Given the description of an element on the screen output the (x, y) to click on. 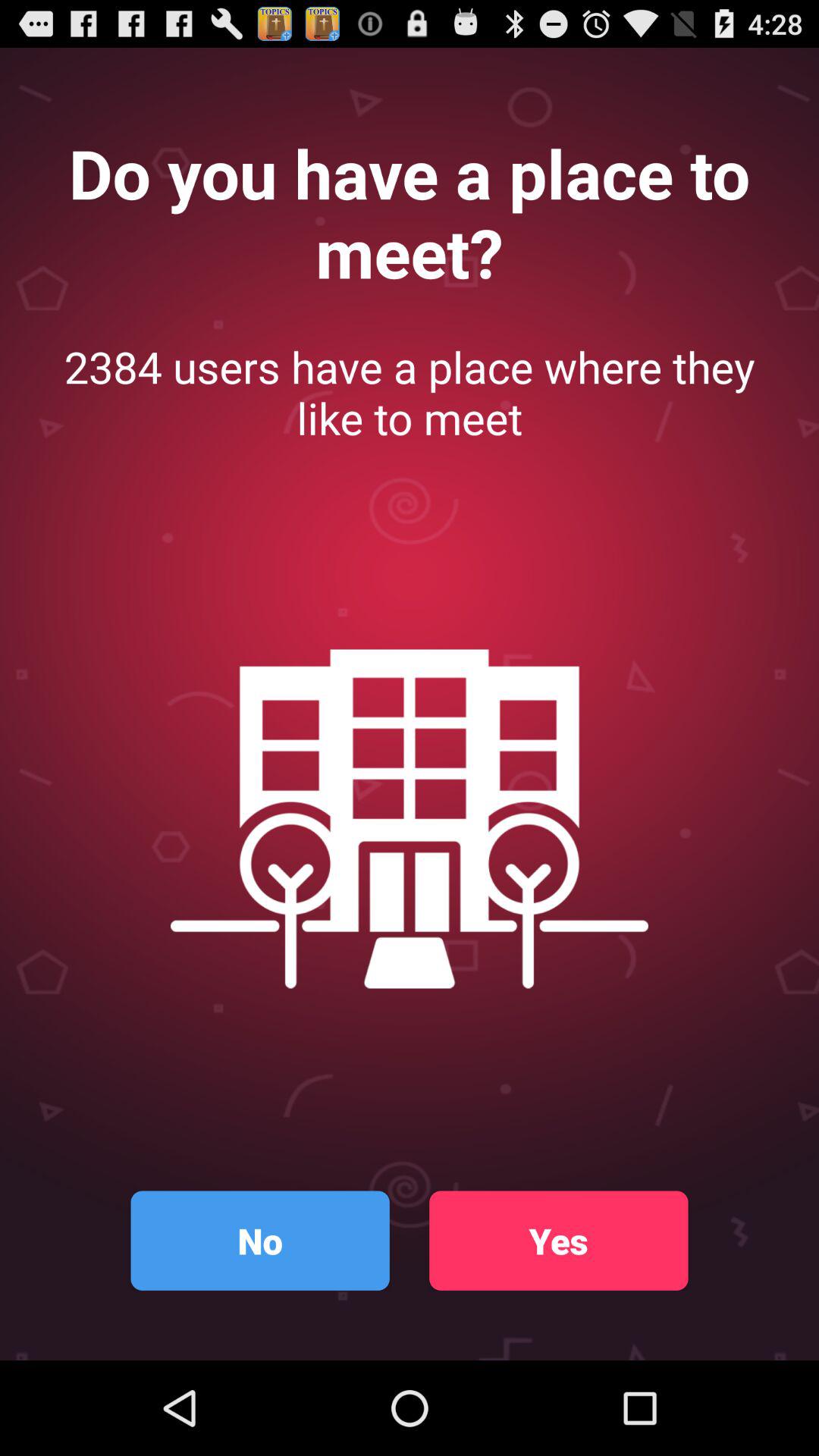
select the icon next to yes item (259, 1240)
